Given the description of an element on the screen output the (x, y) to click on. 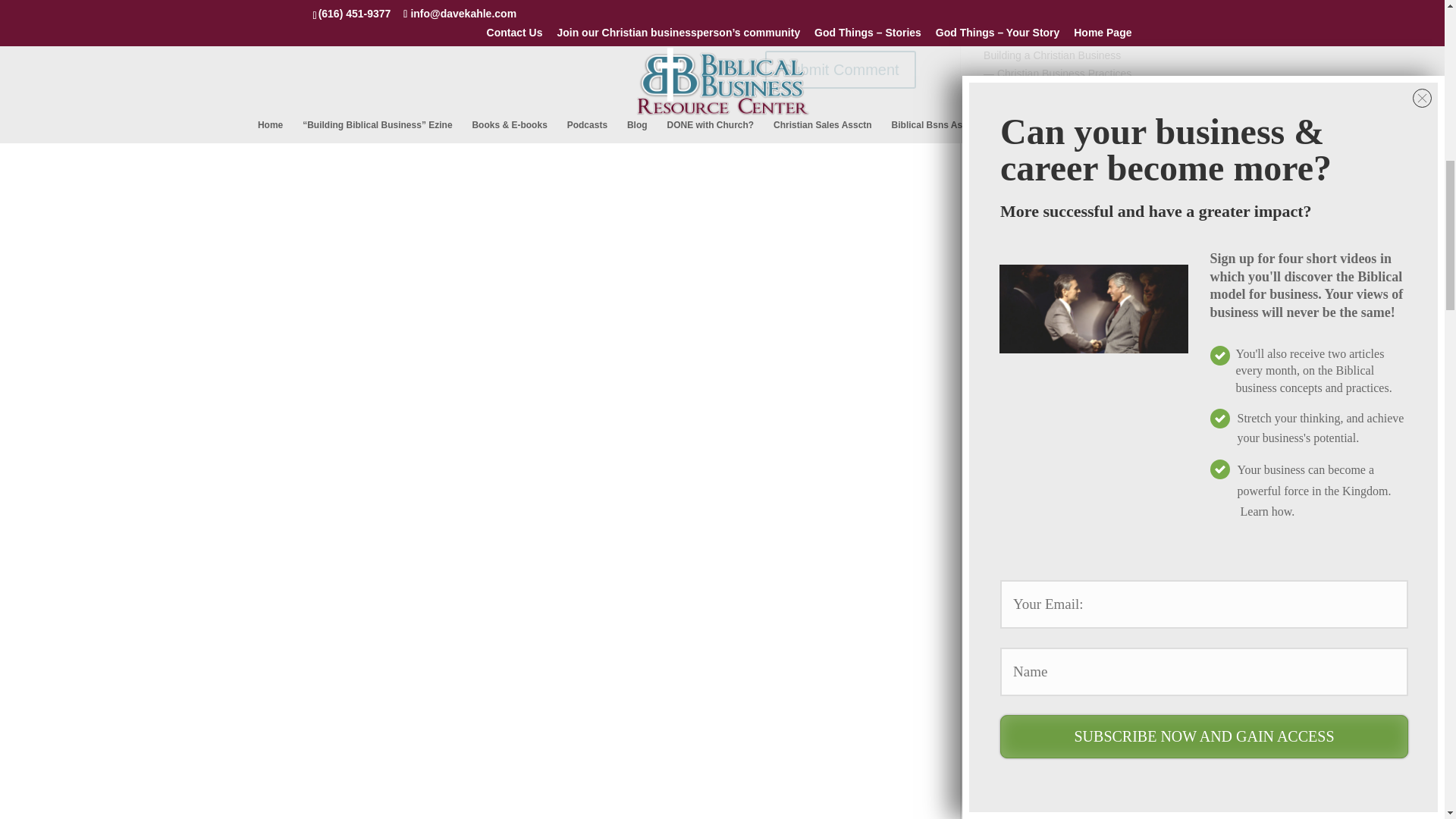
Submit Comment (840, 69)
Submit Comment (840, 69)
